Given the description of an element on the screen output the (x, y) to click on. 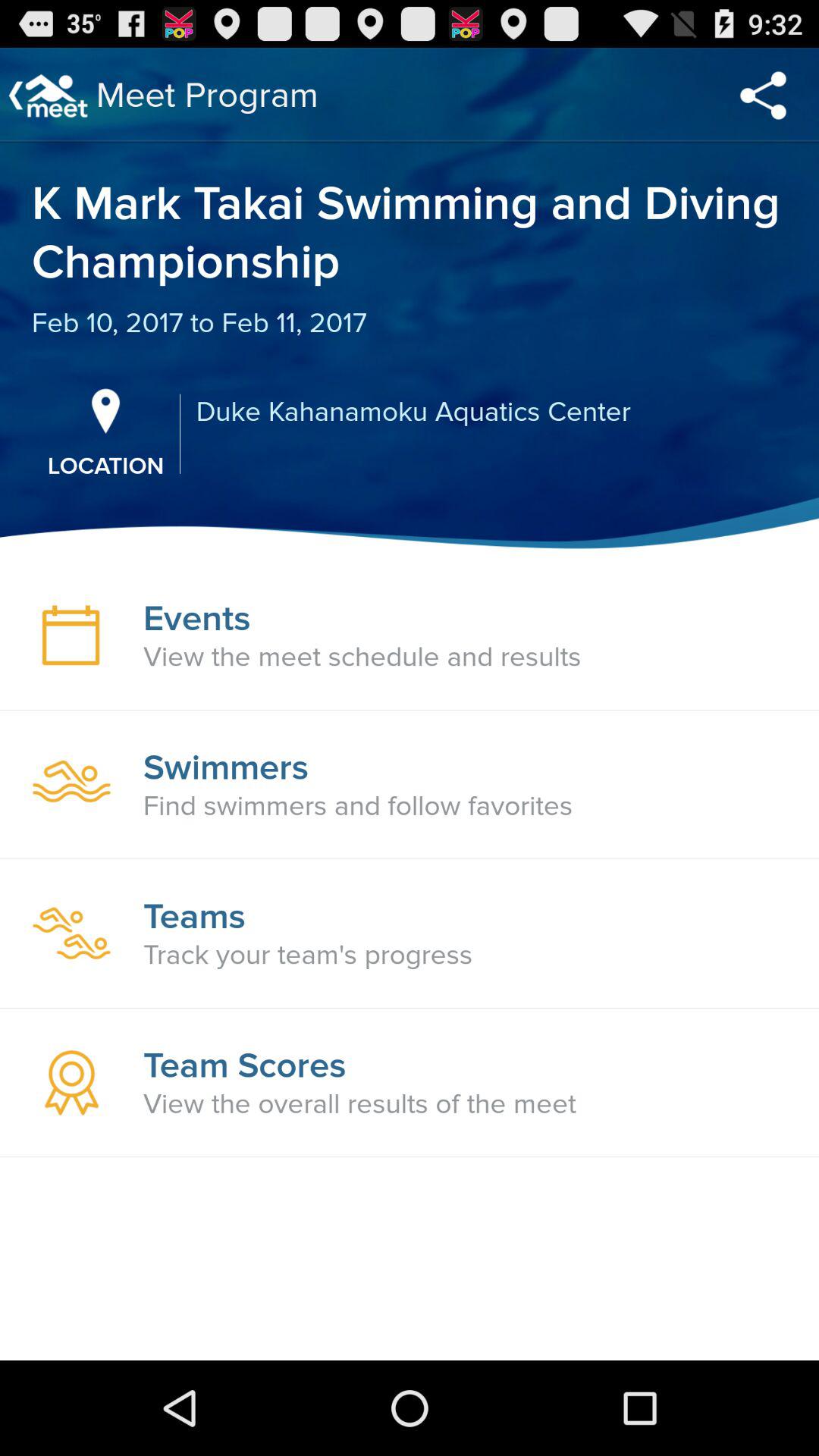
open find swimmers and (357, 805)
